Given the description of an element on the screen output the (x, y) to click on. 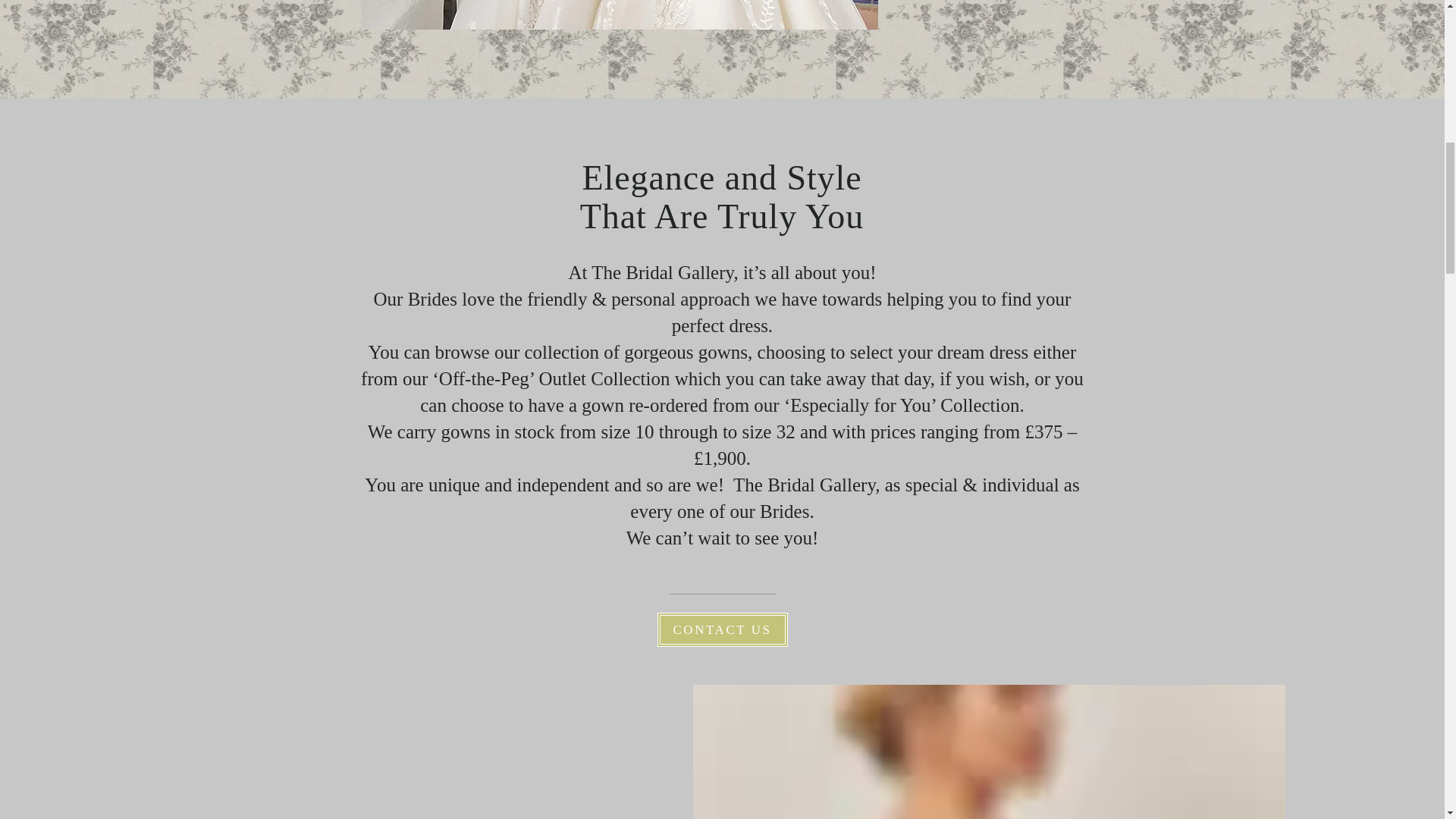
CONTACT US (721, 629)
